Given the description of an element on the screen output the (x, y) to click on. 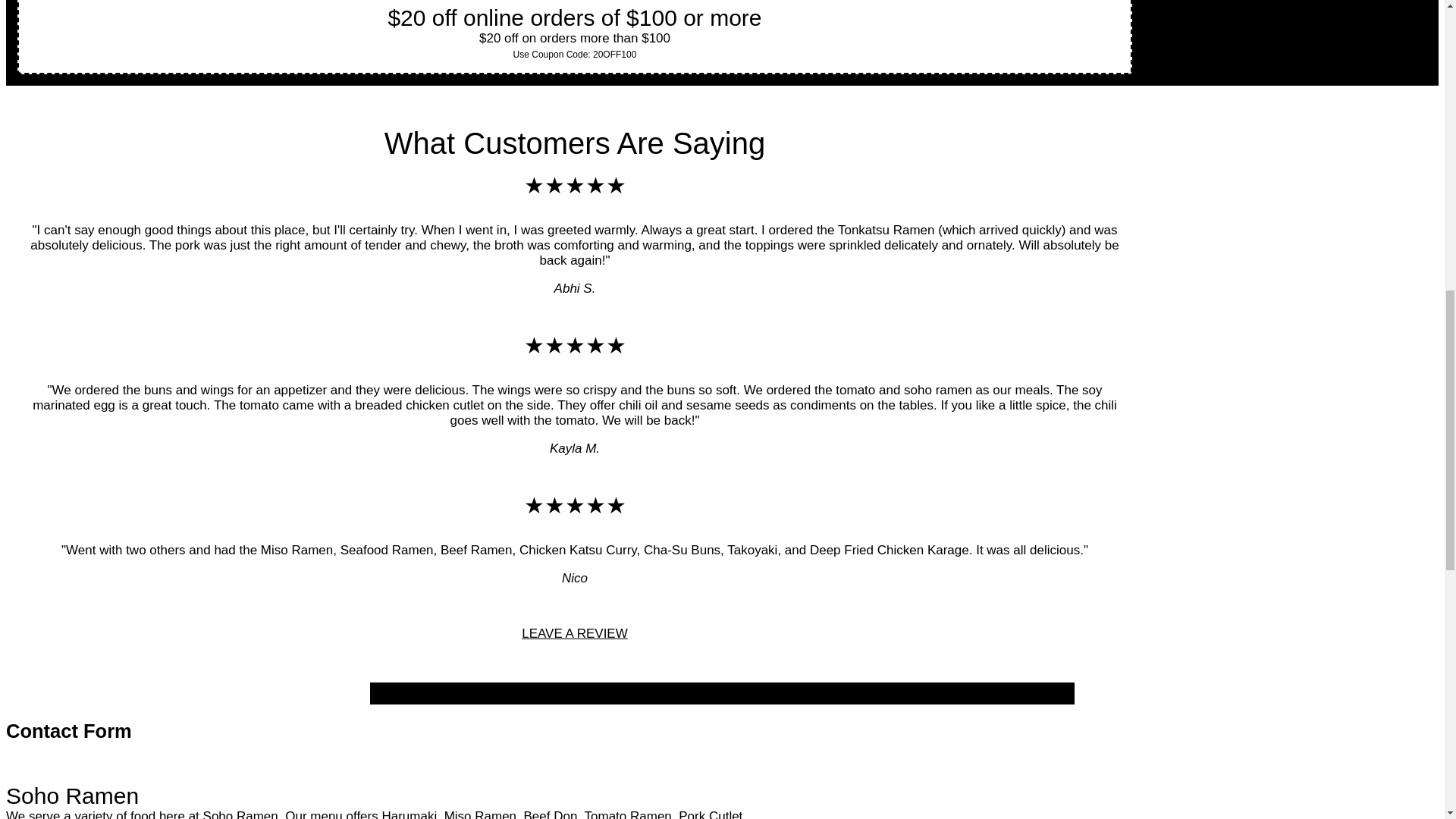
LEAVE A REVIEW (574, 633)
